Given the description of an element on the screen output the (x, y) to click on. 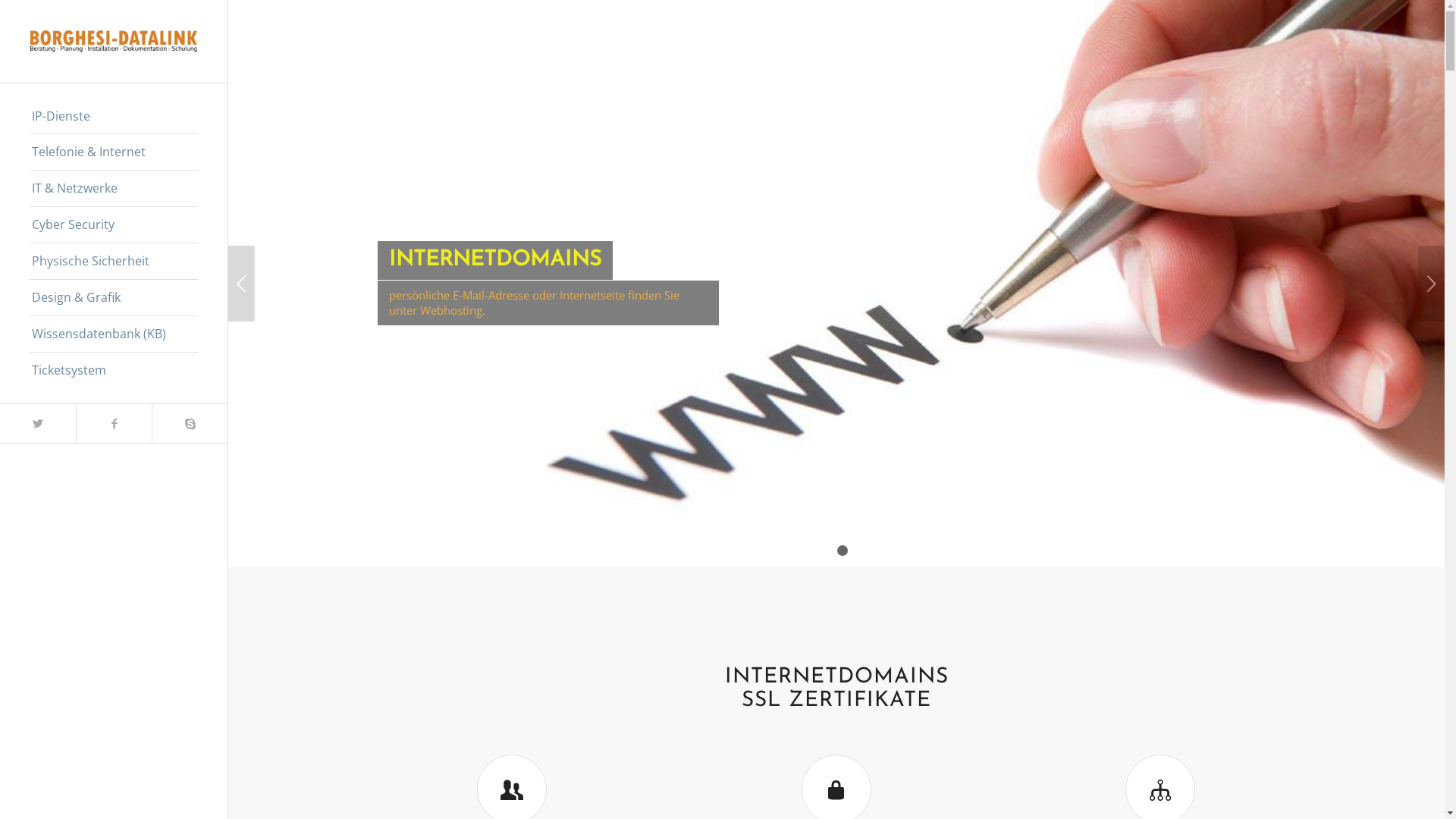
Skype Element type: hover (189, 423)
domains_banner1 Element type: hover (836, 283)
Physische Sicherheit Element type: text (113, 261)
Ticketsystem Element type: text (113, 370)
IT & Netzwerke Element type: text (113, 188)
IP-Dienste Element type: text (113, 116)
Telefonie & Internet Element type: text (113, 152)
Wissensdatenbank (KB) Element type: text (113, 334)
Design & Grafik Element type: text (113, 297)
1 Element type: text (830, 550)
Weiter Element type: text (1431, 283)
2 Element type: text (842, 550)
Facebook Element type: hover (113, 423)
Twitter Element type: hover (37, 423)
Cyber Security Element type: text (113, 225)
